Given the description of an element on the screen output the (x, y) to click on. 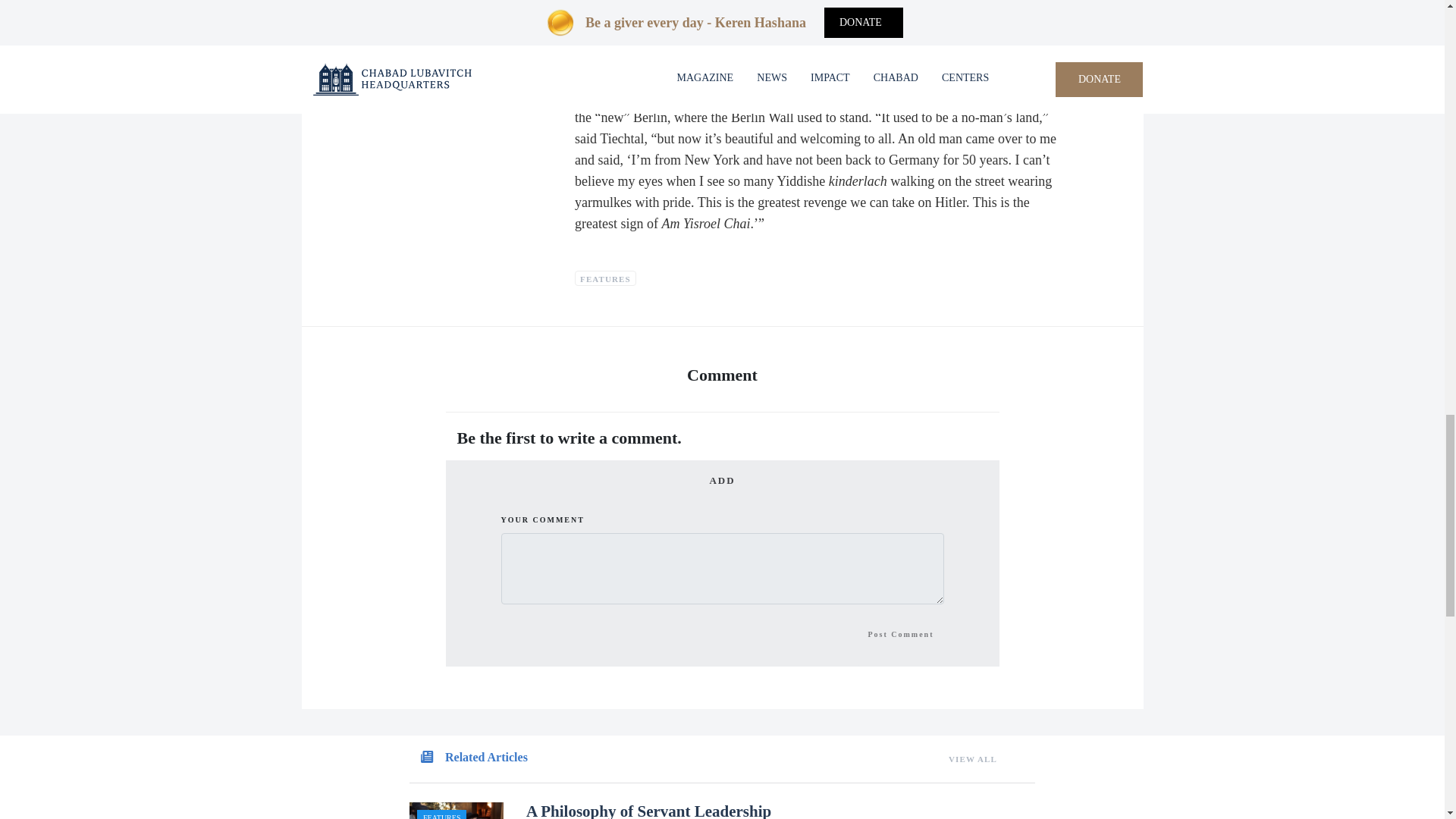
Post Comment (900, 644)
